Given the description of an element on the screen output the (x, y) to click on. 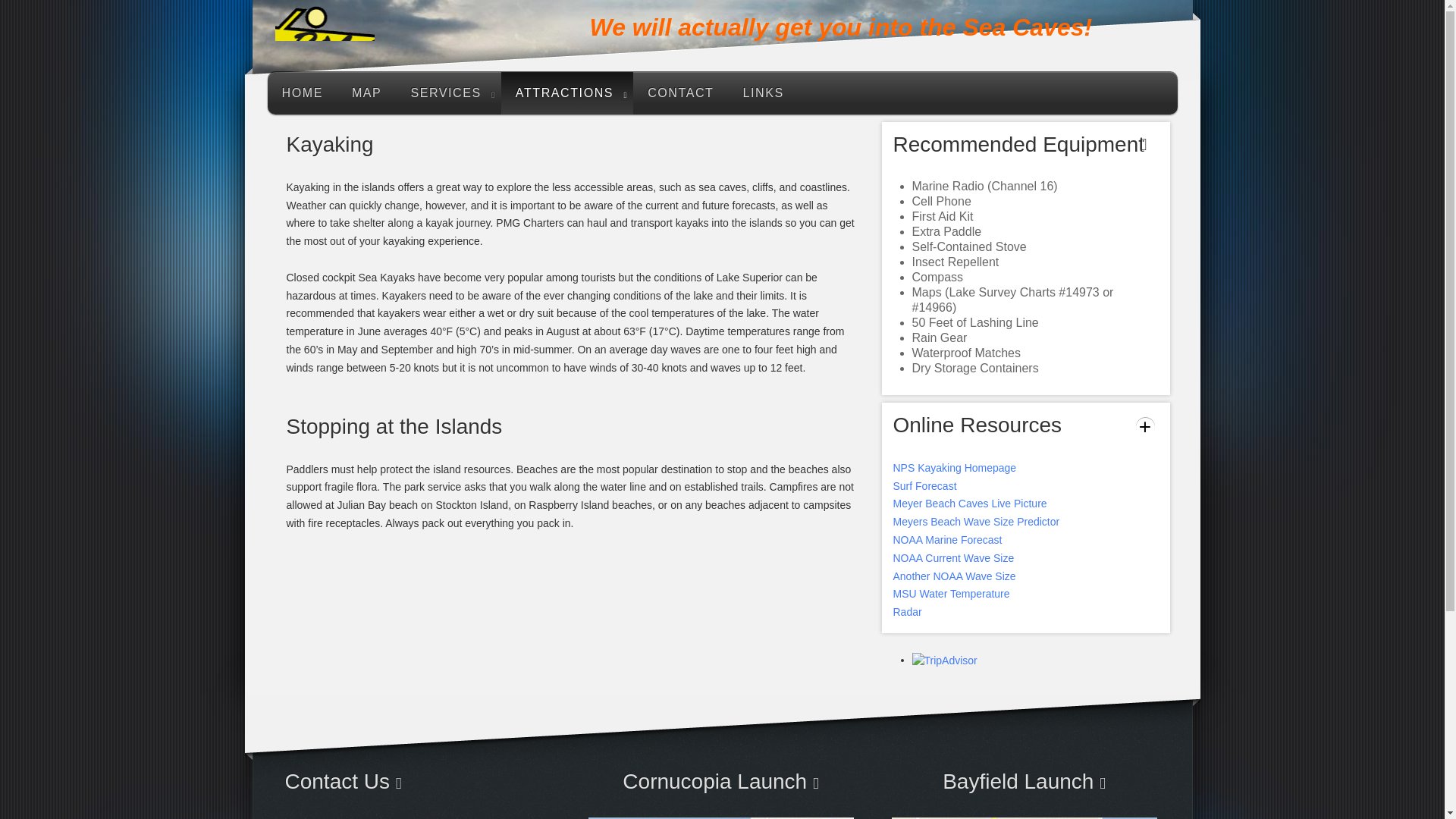
Another NOAA Wave Size (954, 576)
MSU Water Temperature (951, 593)
Meyers Beach Wave Size Predictor (976, 521)
Radar (907, 612)
ATTRACTIONS (566, 93)
Meyer Beach Caves Live Picture (969, 503)
MAP (366, 93)
NPS Kayaking Homepage (954, 467)
NOAA Marine Forecast (948, 539)
Surf Forecast (924, 485)
